Given the description of an element on the screen output the (x, y) to click on. 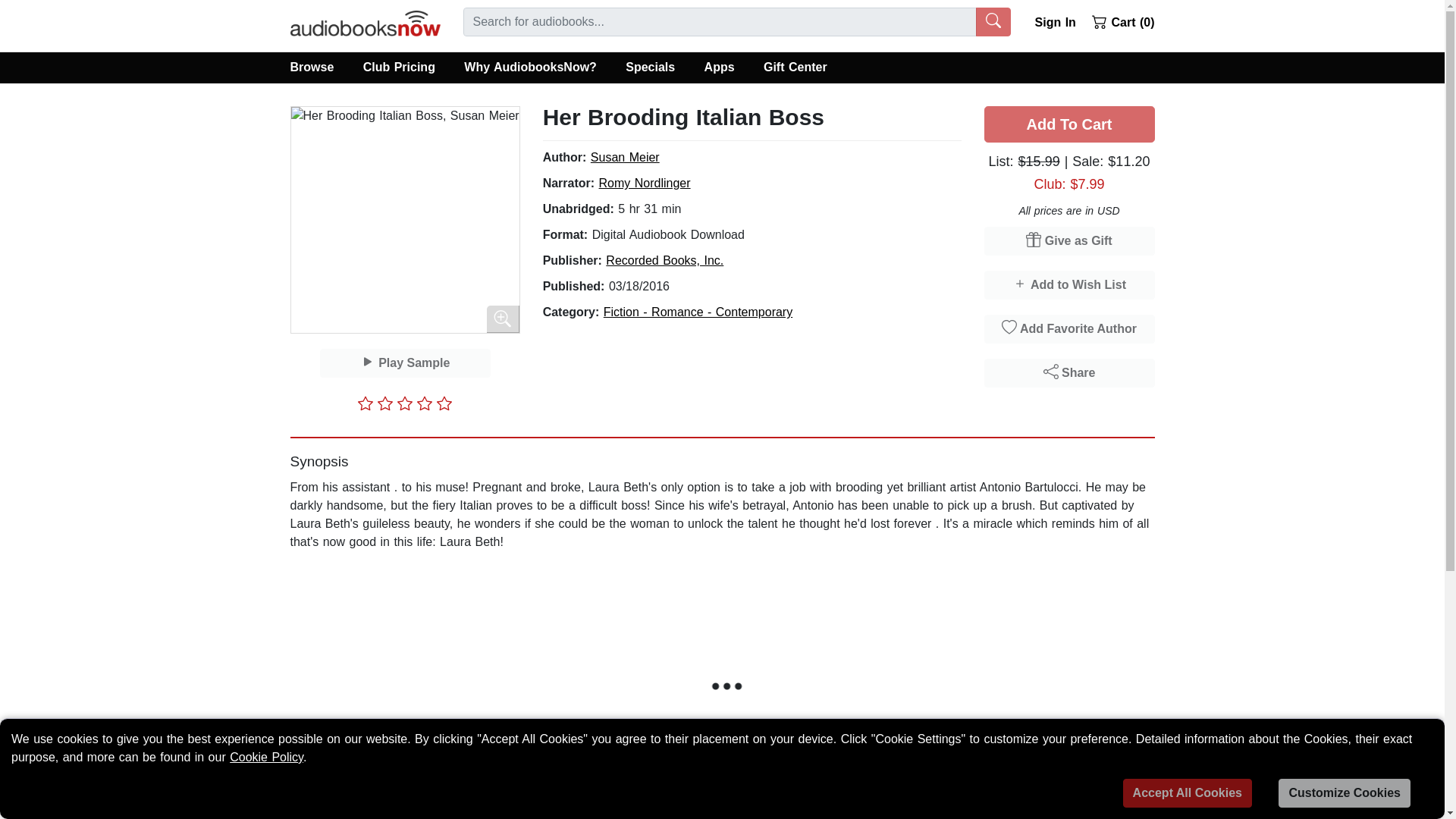
Add to Wish List (1069, 285)
Customize Cookies (1344, 792)
Club Pricing (398, 66)
Add Favorite Author (1069, 328)
Cookie Policy (266, 757)
Share (1069, 372)
Browse (318, 66)
Give as Gift (1069, 240)
Specials (649, 66)
Add To Cart (1069, 124)
Play Sample (405, 362)
Apps (718, 66)
Why AudiobooksNow? (530, 66)
Gift Center (795, 66)
Susan Meier (625, 156)
